Given the description of an element on the screen output the (x, y) to click on. 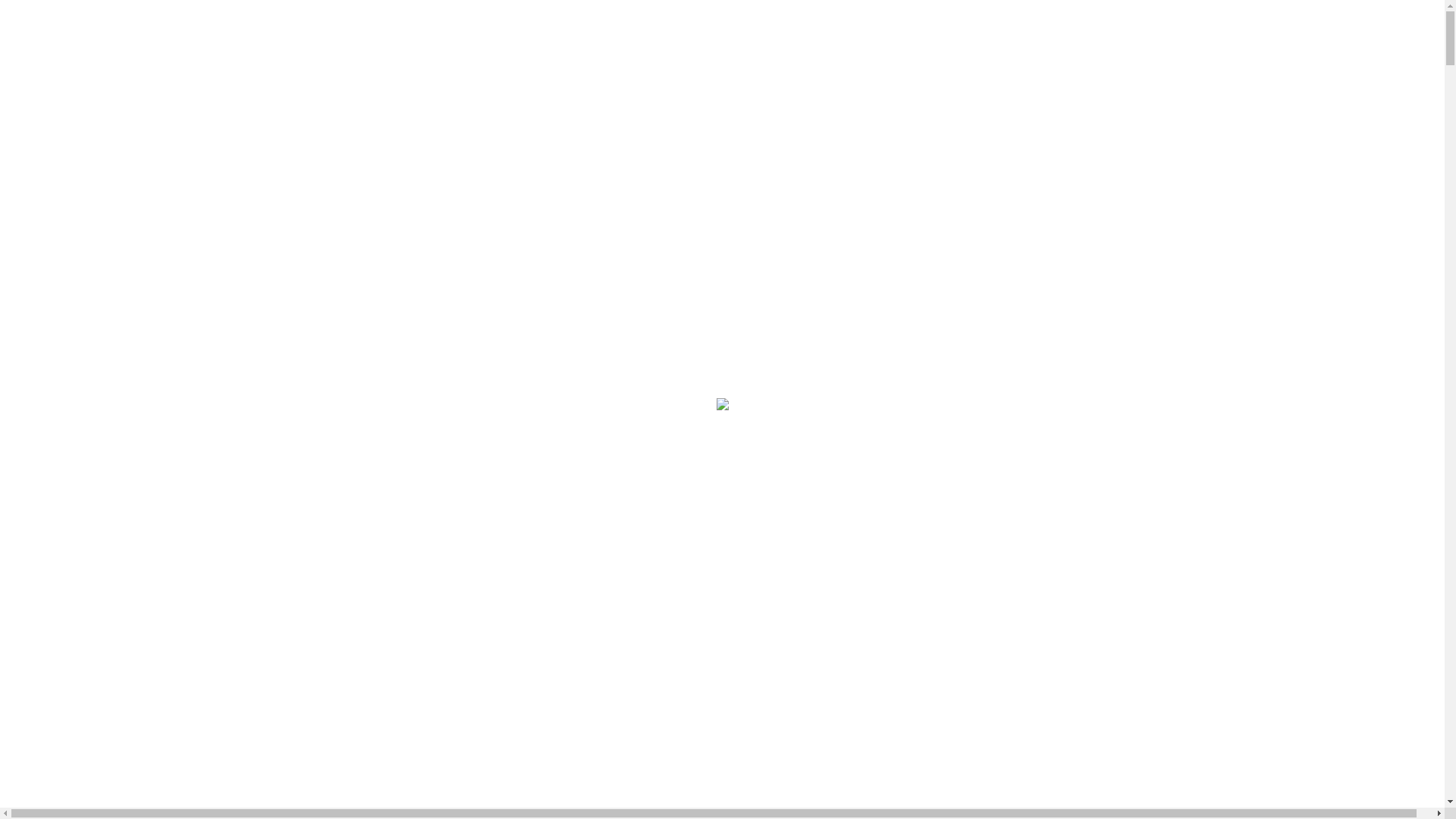
Career Map Element type: text (65, 125)
Menu Element type: text (50, 97)
Contact Us Element type: text (63, 166)
Favorites Element type: text (58, 191)
Home Element type: text (50, 111)
Roles Element type: text (49, 138)
Favorites Element type: text (58, 244)
About Us Element type: text (59, 152)
Skip to content Element type: text (42, 12)
About us Element type: text (28, 794)
Browse the Career Map Element type: text (63, 718)
